Given the description of an element on the screen output the (x, y) to click on. 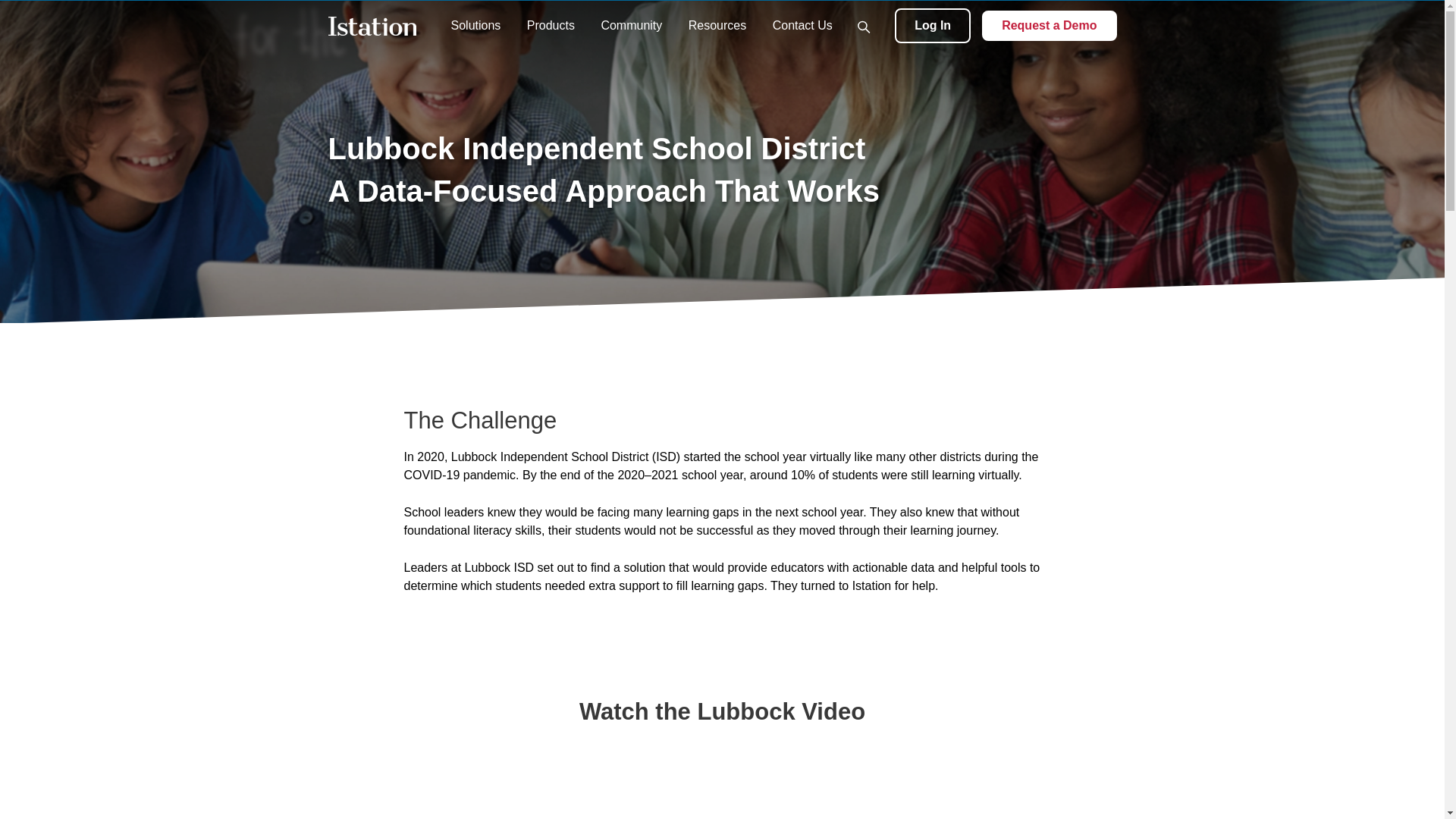
Contact Us (802, 24)
Log In (932, 25)
Community (630, 24)
Solutions (474, 24)
HubSpot Video (722, 778)
Products (551, 24)
Resources (716, 24)
